Given the description of an element on the screen output the (x, y) to click on. 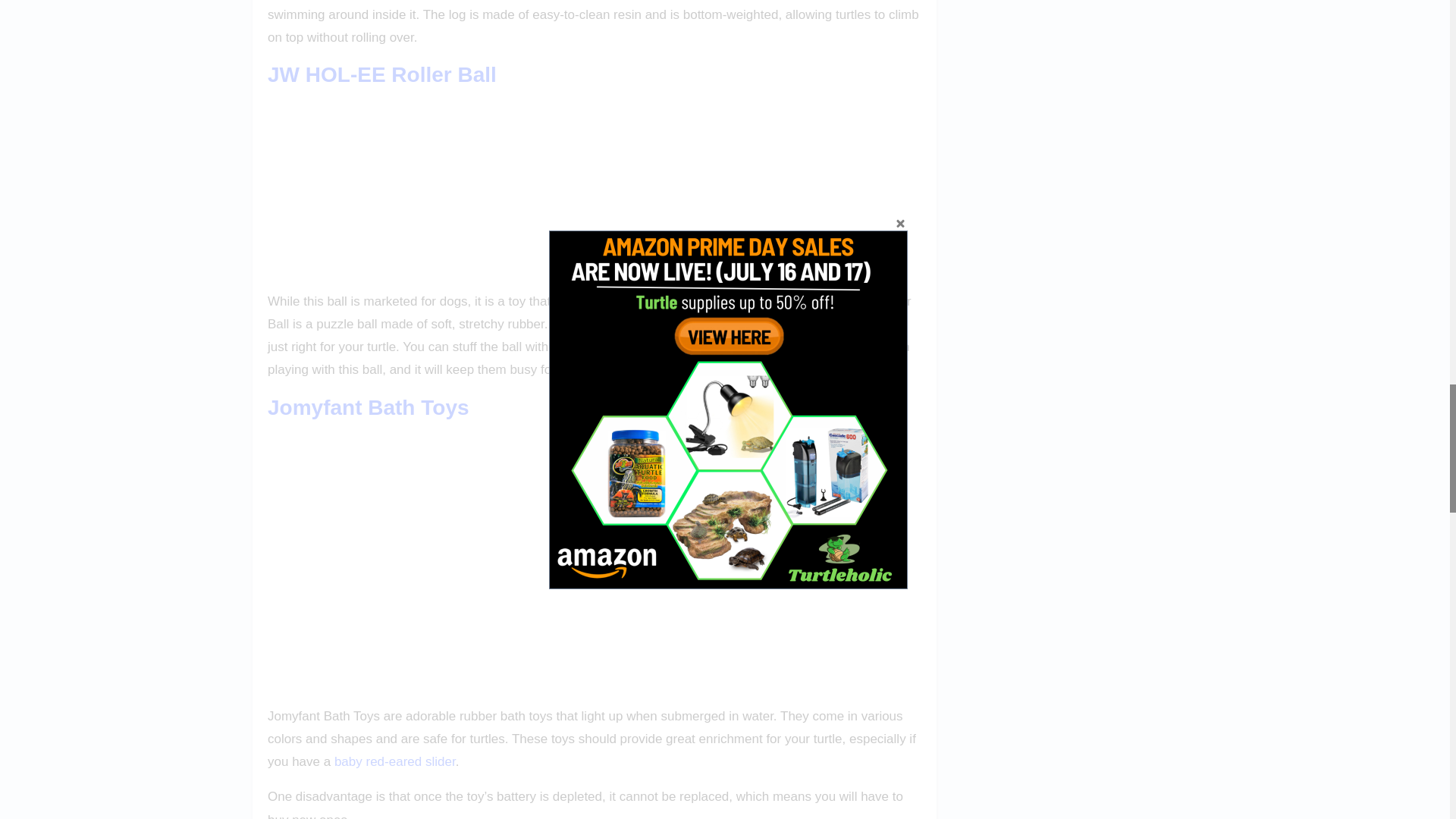
JW HOL-EE Roller Ball (381, 74)
Jomyfant Bath Toys (367, 407)
baby red-eared slider (394, 761)
